Given the description of an element on the screen output the (x, y) to click on. 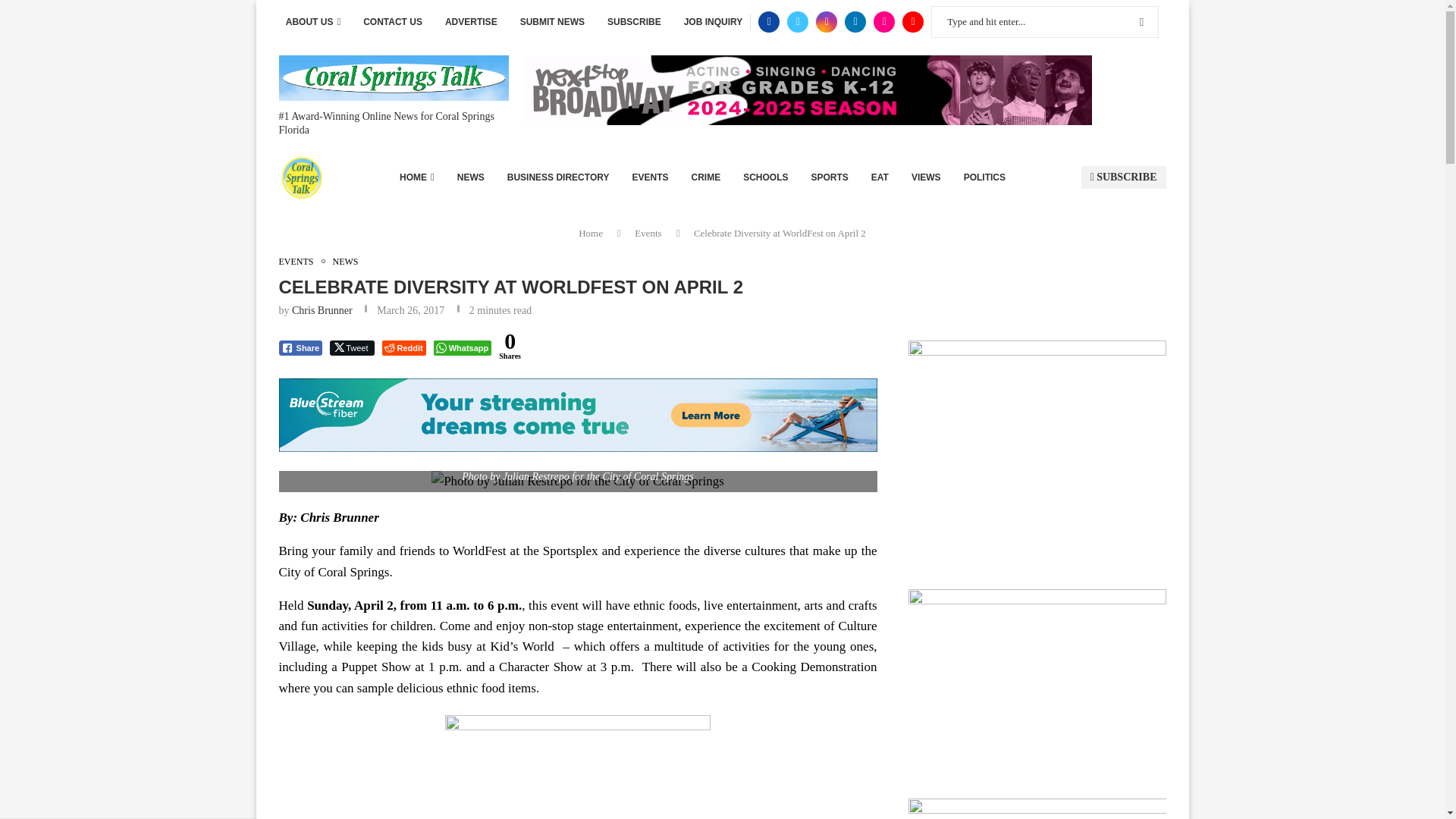
BUSINESS DIRECTORY (558, 177)
Celebrate Diversity at WorldFest on April 2 6 (576, 481)
SUBMIT NEWS (552, 22)
ADVERTISE (471, 22)
SUBSCRIBE (634, 22)
JOB INQUIRY (713, 22)
CONTACT US (392, 22)
ABOUT US (312, 22)
